Given the description of an element on the screen output the (x, y) to click on. 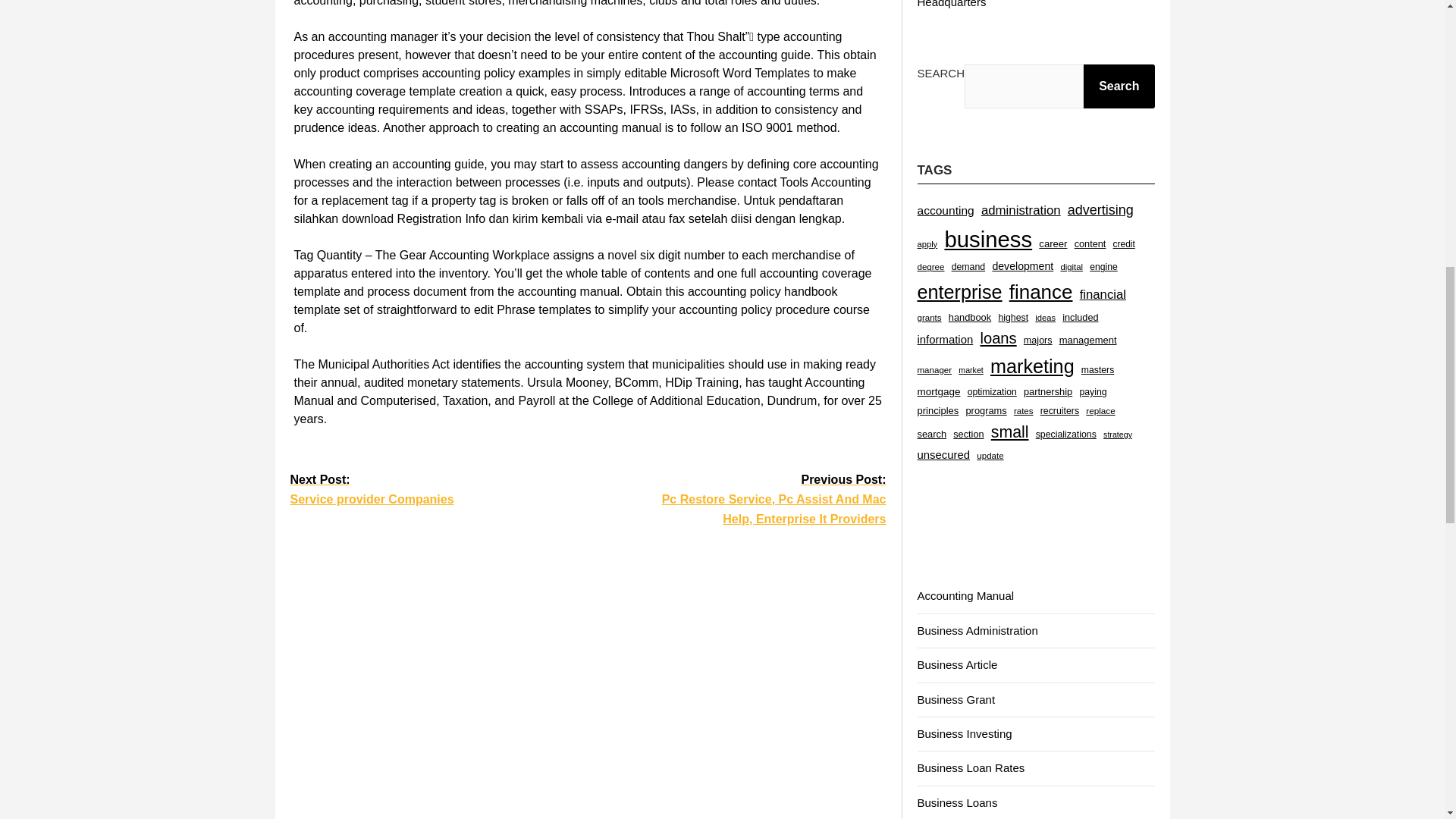
Schoharie Financial Enterprise Will Get New Headquarters (1029, 4)
Search (1118, 86)
